Given the description of an element on the screen output the (x, y) to click on. 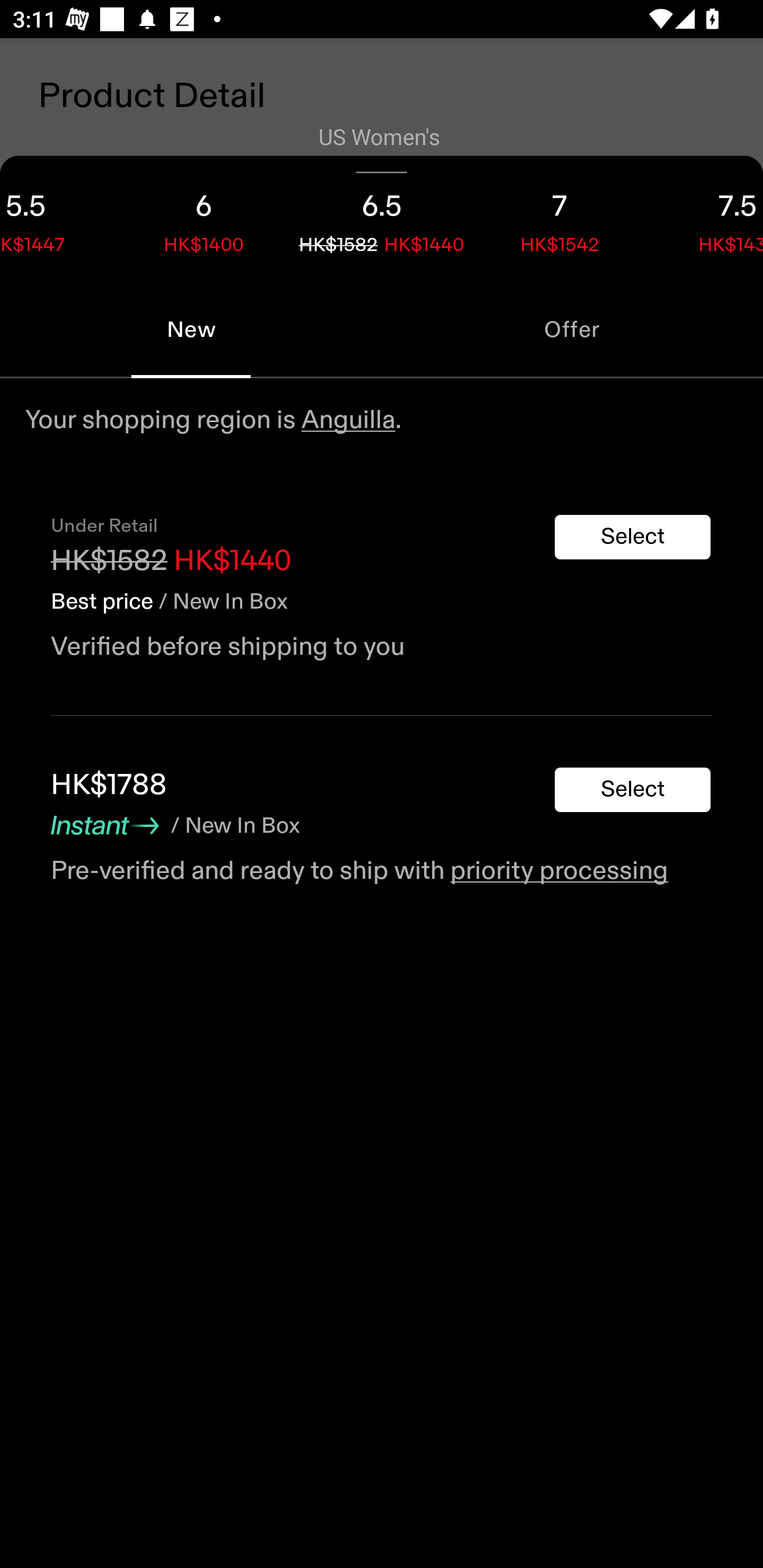
5.5 HK$1447 (57, 218)
6 HK$1400 (203, 218)
6.5 HK$1582 HK$1440 (381, 218)
7 HK$1542 (559, 218)
7.5 HK$1432 (705, 218)
Offer (572, 329)
Select (632, 536)
Sell (152, 606)
HK$1788 (109, 785)
Select (632, 789)
